Given the description of an element on the screen output the (x, y) to click on. 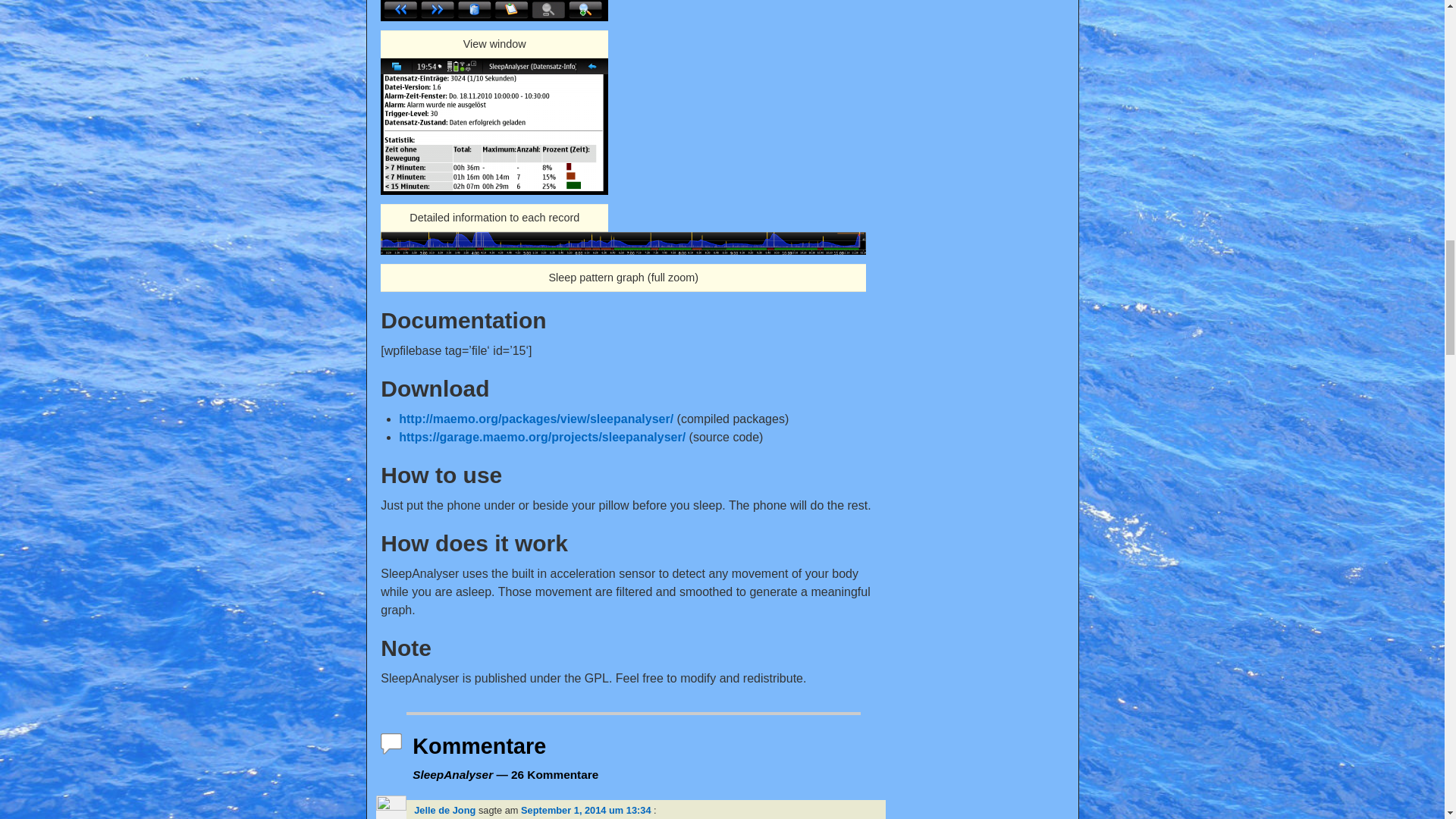
Maemo project website (541, 436)
Maemo package overview (535, 418)
